Given the description of an element on the screen output the (x, y) to click on. 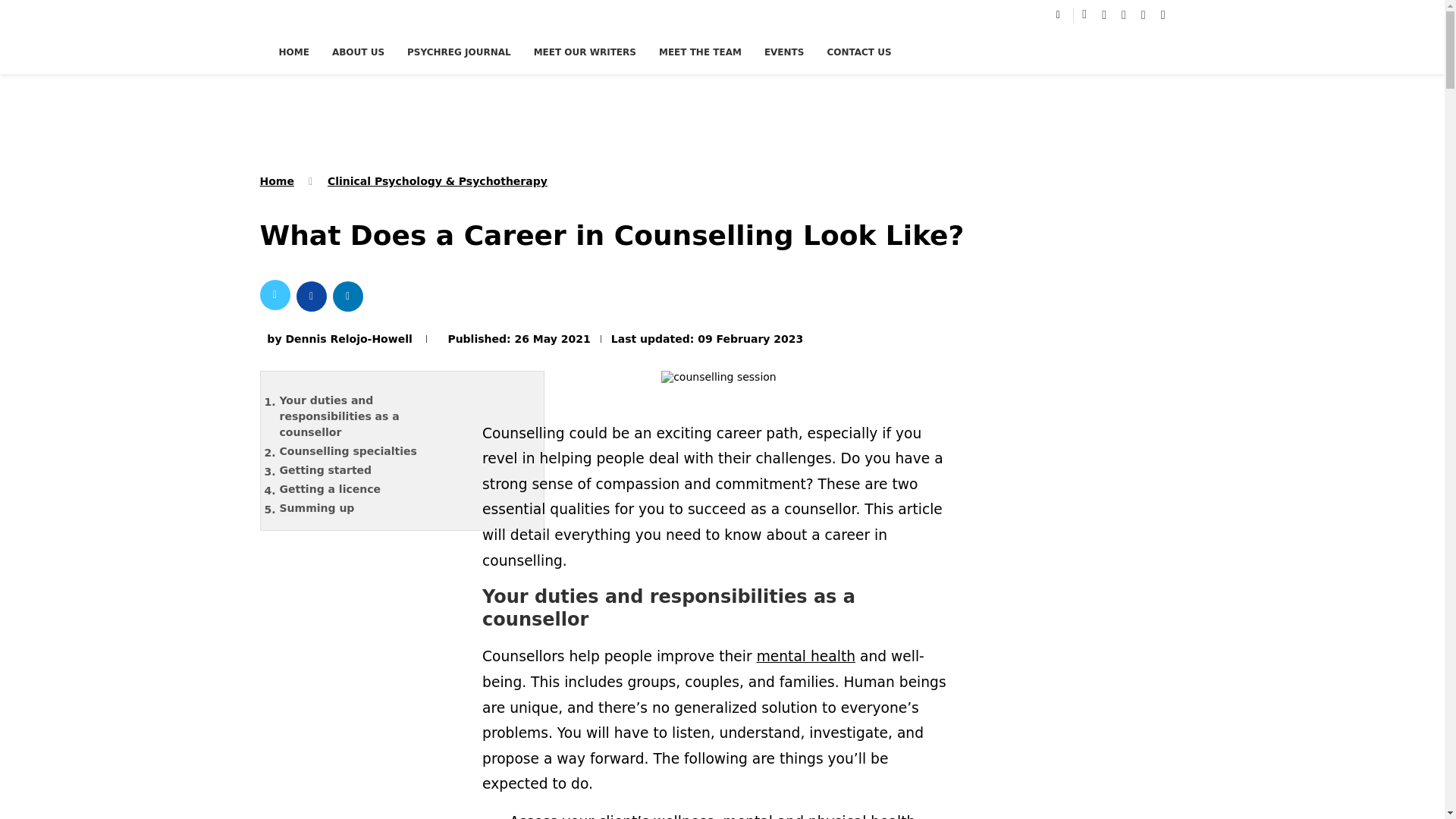
CONTACT US (859, 52)
Getting started (373, 470)
counselling session (718, 380)
MEET THE TEAM (700, 52)
MEET OUR WRITERS (585, 52)
ABOUT US (357, 52)
EVENTS (784, 52)
Summing up (373, 507)
Your duties and responsibilities as a counsellor (373, 416)
Getting a licence (373, 488)
PSYCHREG JOURNAL (459, 52)
Counselling specialties (373, 451)
